Given the description of an element on the screen output the (x, y) to click on. 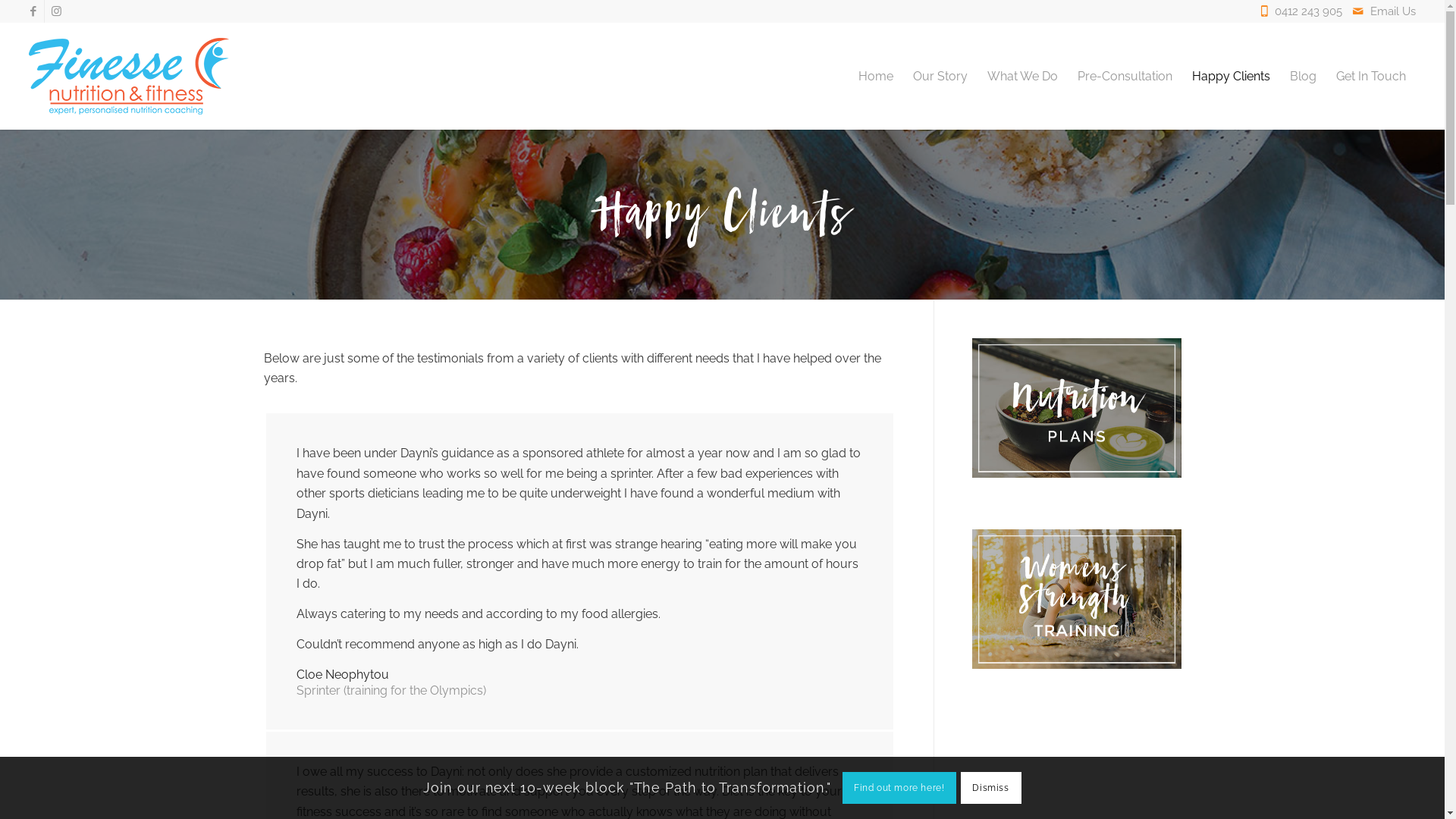
Dismiss Element type: text (990, 787)
Instagram Element type: hover (55, 11)
Home Element type: text (875, 75)
Pre-Consultation Element type: text (1124, 75)
Email Us Element type: text (1392, 11)
What We Do Element type: text (1022, 75)
0412 243 905 Element type: text (1311, 11)
Happy Clients Element type: text (1231, 75)
Facebook Element type: hover (32, 11)
logo Element type: hover (128, 75)
Find out more here! Element type: text (899, 787)
Blog Element type: text (1303, 75)
Get In Touch Element type: text (1370, 75)
Our Story Element type: text (940, 75)
